Given the description of an element on the screen output the (x, y) to click on. 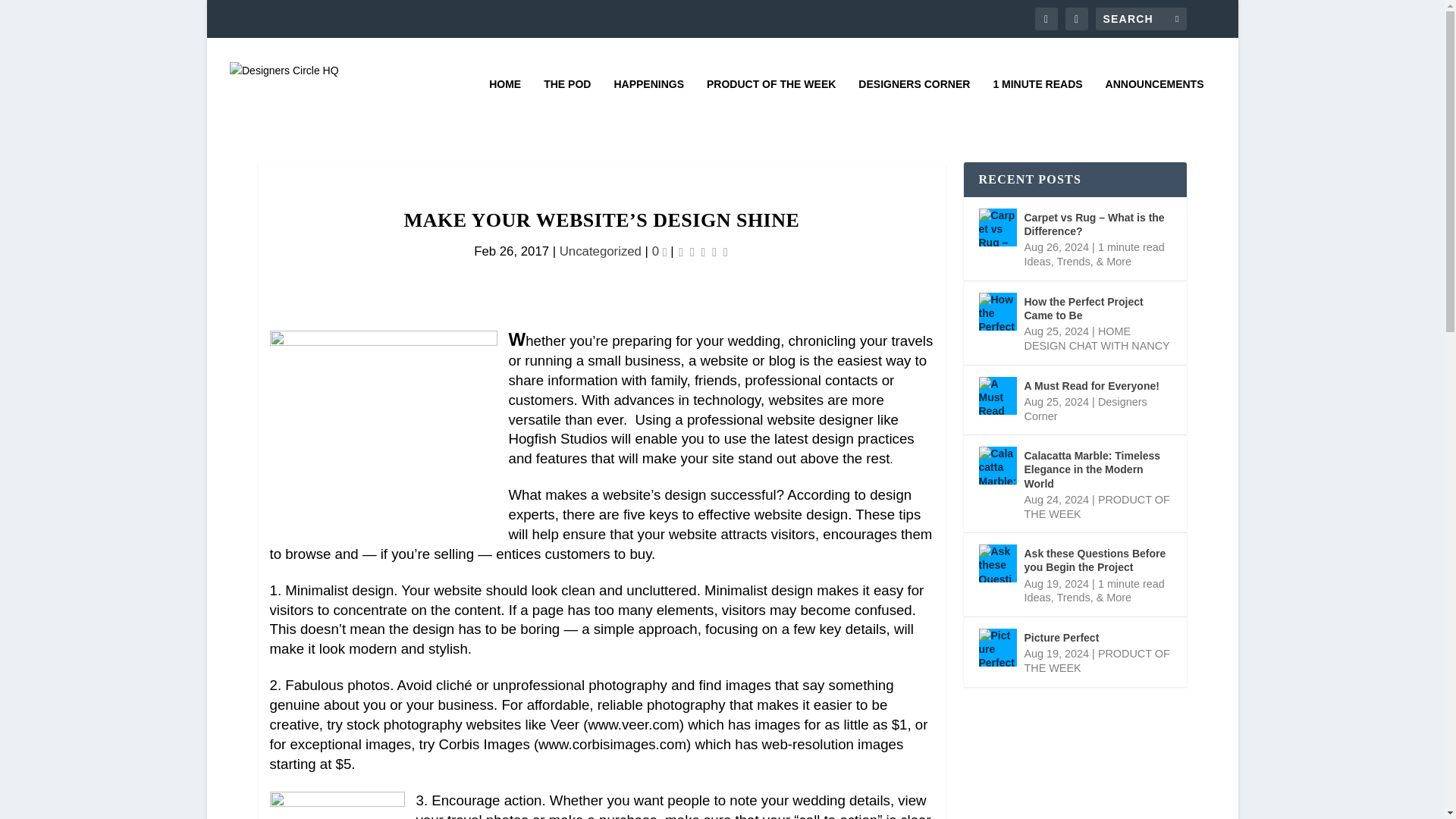
PRODUCT OF THE WEEK (770, 104)
Rating: 0.00 (703, 251)
HAPPENINGS (648, 104)
Uncategorized (600, 251)
A Must Read for Everyone! (997, 395)
Picture Perfect (997, 647)
www.corbisimages.com (611, 744)
Hogfish Studios (557, 438)
www.veer.com (633, 724)
How the Perfect Project Came to Be (997, 311)
